Given the description of an element on the screen output the (x, y) to click on. 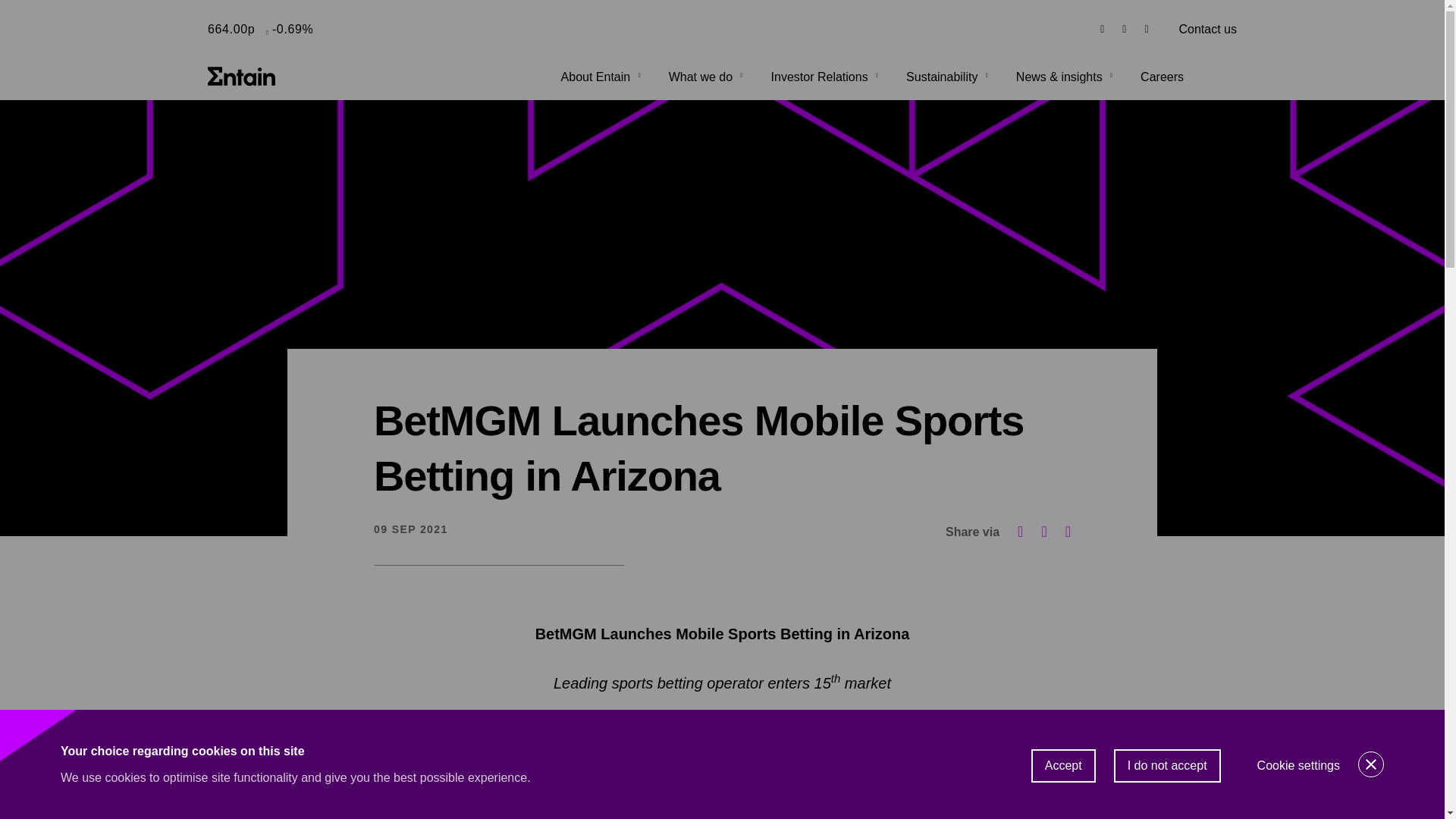
Go to homepage (242, 76)
Investor Relations (826, 76)
Contact us (1207, 29)
twitter (1123, 28)
facebook (1101, 28)
What we do (707, 76)
linkedin (1146, 28)
About Entain (602, 76)
